Given the description of an element on the screen output the (x, y) to click on. 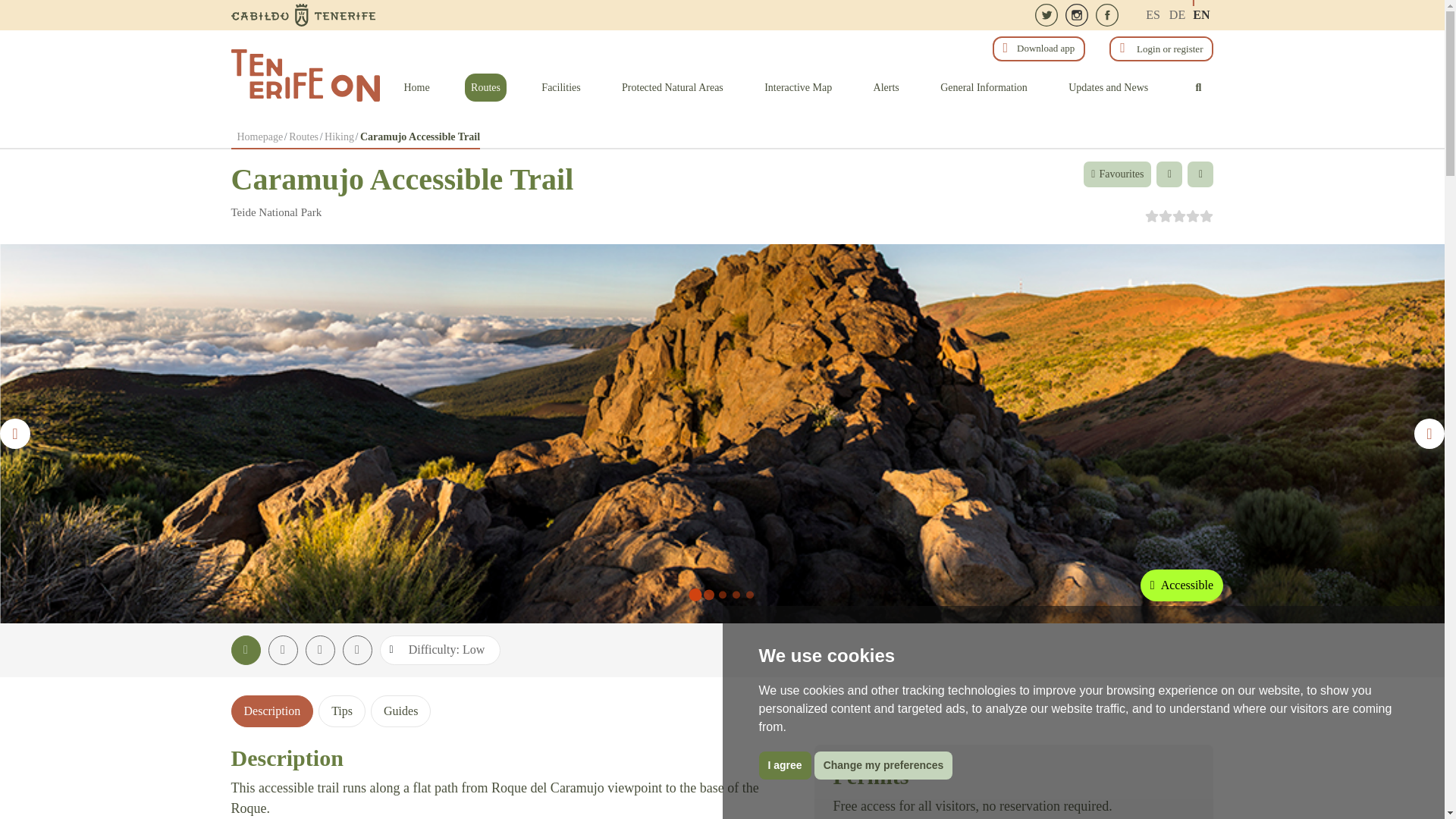
Alerts (886, 86)
Search (1198, 86)
Routes (303, 135)
General Information (983, 86)
Protected Natural Areas (672, 86)
Enlace al perfil de Twiter (1046, 15)
Home (416, 86)
Homepage (258, 135)
Hiking (338, 135)
I agree (784, 765)
Facilities (560, 86)
Enlace al perfil de Instagram (1076, 15)
Change my preferences (883, 765)
Download app (1039, 48)
Login or register (1160, 48)
